Given the description of an element on the screen output the (x, y) to click on. 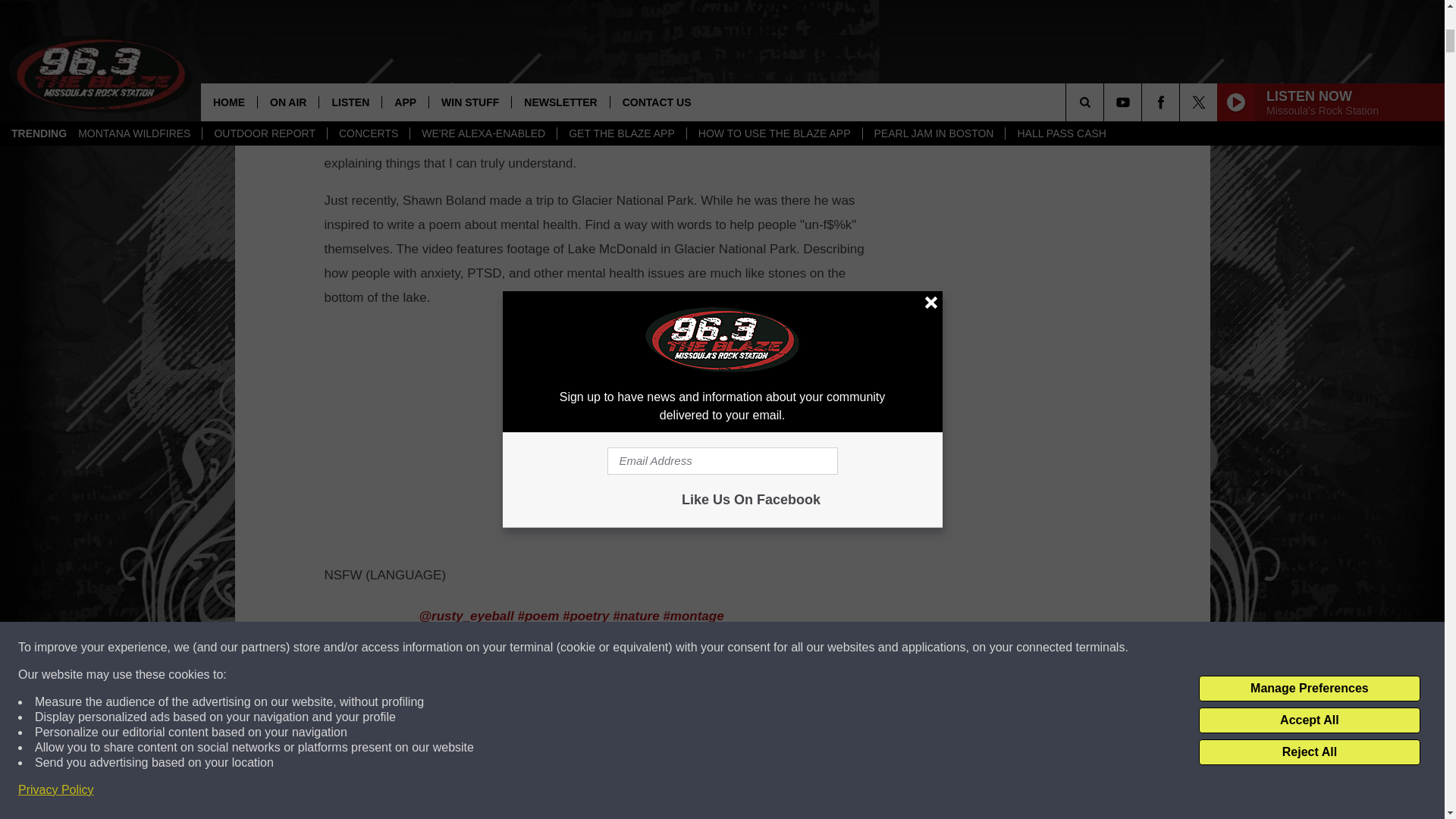
learnontiktok (462, 710)
mindfullness (552, 647)
gowiththeflow (646, 647)
mentalhealth (462, 647)
poetry (585, 616)
nature (635, 616)
anxietyrelief (720, 678)
unfuck (721, 647)
montage (692, 616)
ptsdhelp (589, 678)
inspire (531, 678)
poem (537, 616)
anxiety (649, 678)
inspirational (460, 678)
